Given the description of an element on the screen output the (x, y) to click on. 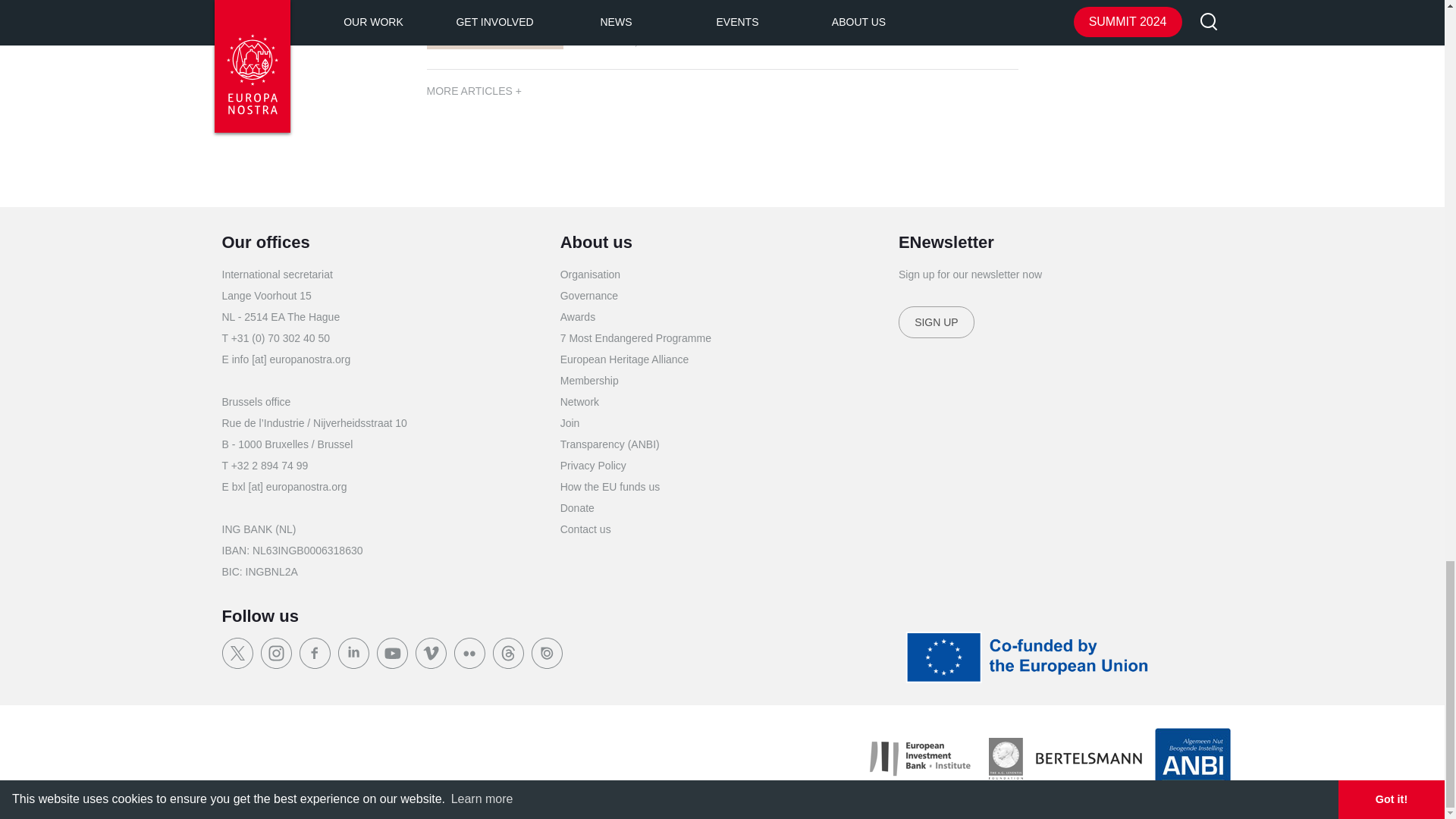
Bertelsmann (1088, 758)
EIB Institute (919, 758)
ANBI (1192, 758)
